Given the description of an element on the screen output the (x, y) to click on. 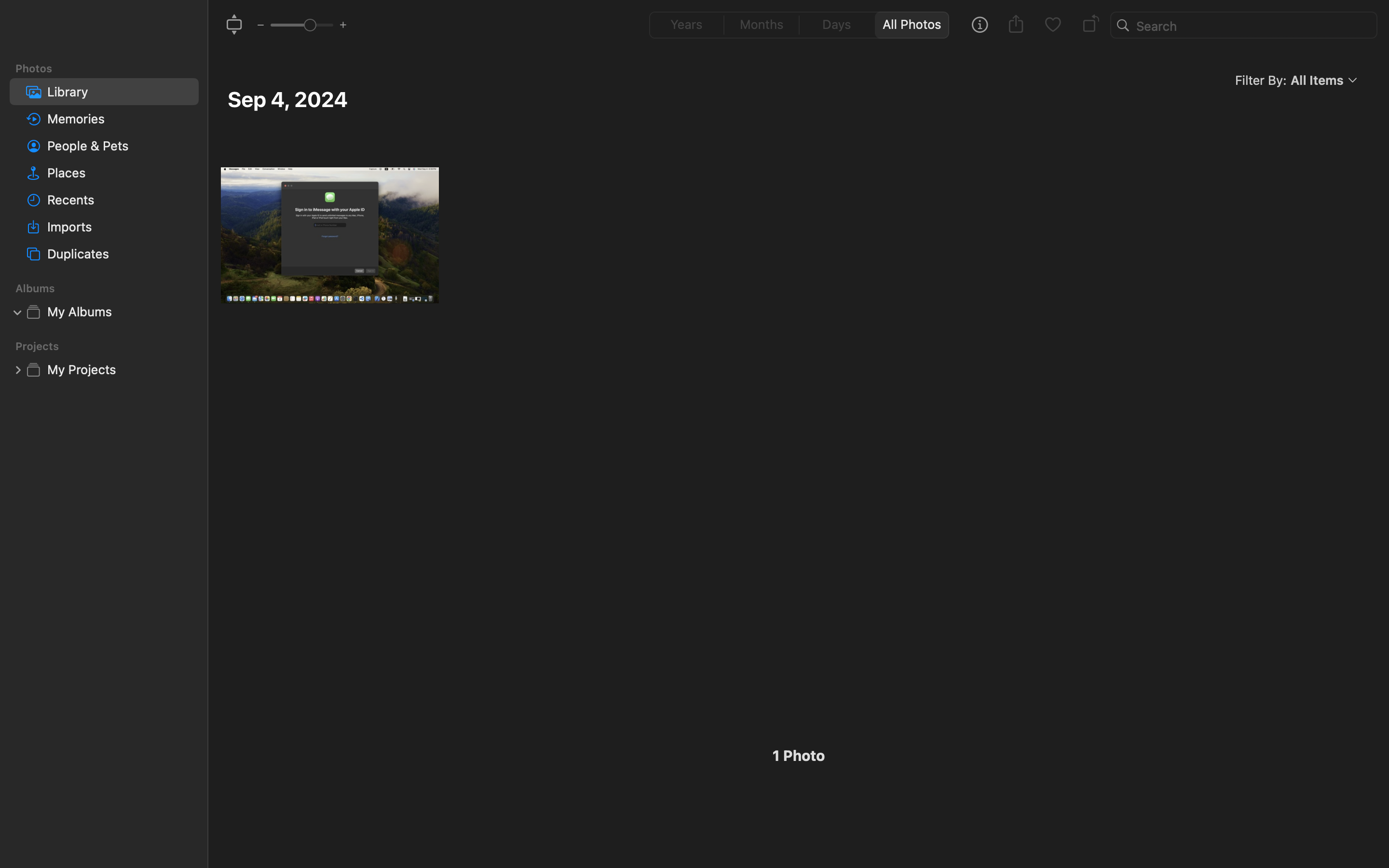
Albums Element type: AXStaticText (109, 288)
1 Element type: AXRadioButton (914, 24)
0 Element type: AXDisclosureTriangle (17, 368)
Library Element type: AXStaticText (118, 91)
Imports Element type: AXStaticText (118, 226)
